Given the description of an element on the screen output the (x, y) to click on. 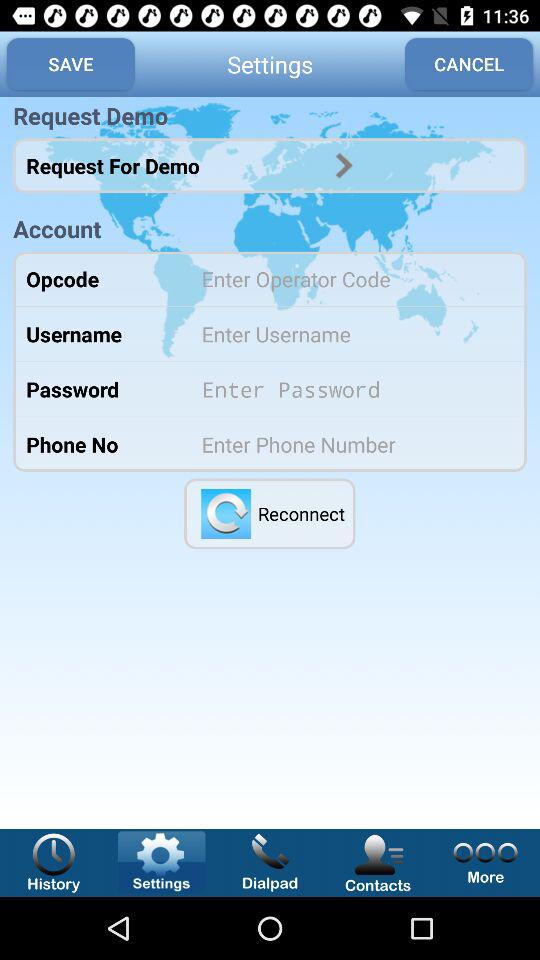
swipe until save (70, 64)
